Given the description of an element on the screen output the (x, y) to click on. 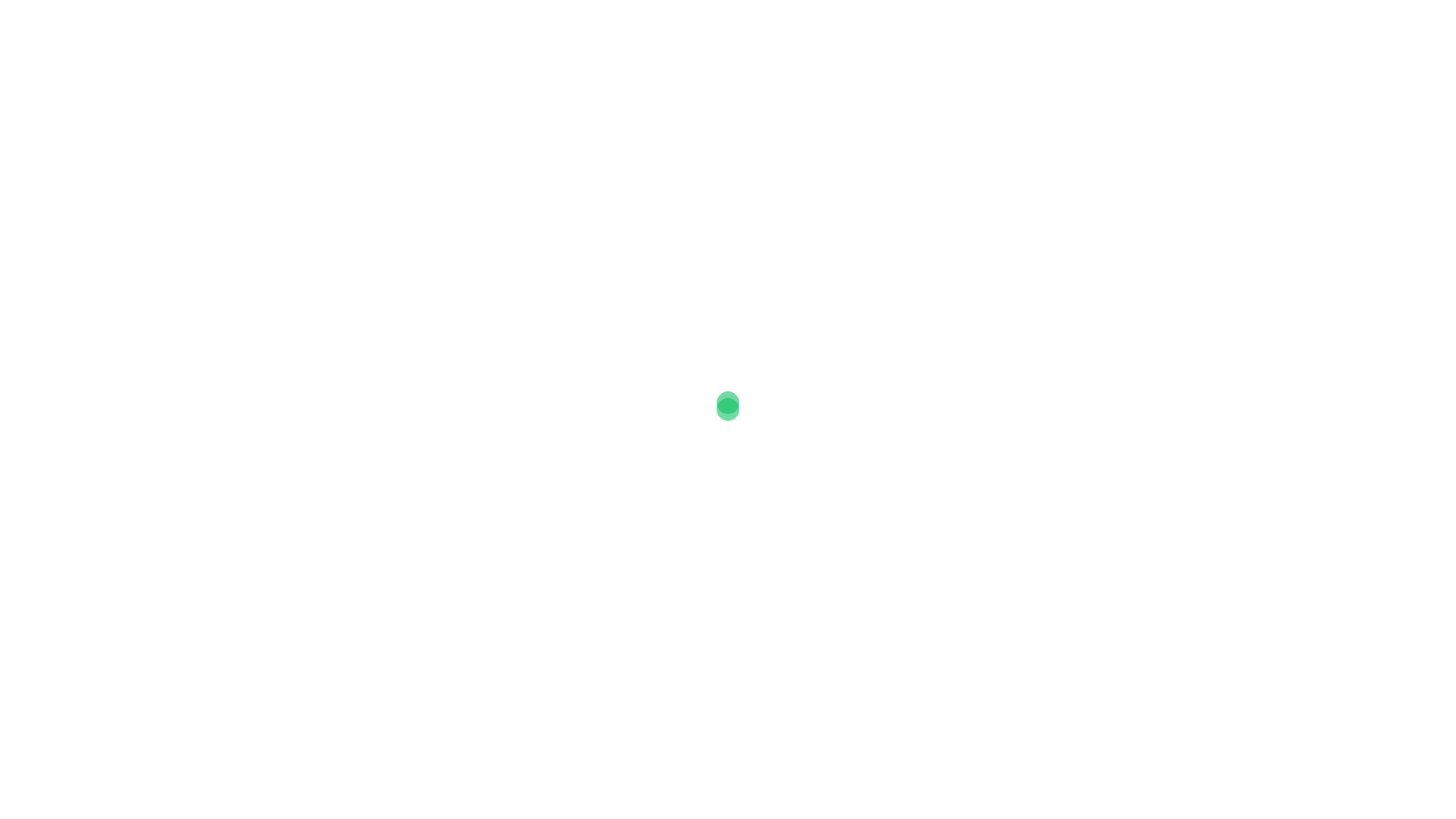
Klimaatplan 2030 Element type: text (825, 26)
Over het project Element type: text (702, 26)
Wat is jouw idee? Element type: text (1096, 26)
Klimaattafel Element type: text (372, 292)
Daad voor ons Klimaat Element type: text (389, 26)
Video Element type: text (1004, 26)
Klimaattafel Element type: hover (431, 175)
